Given the description of an element on the screen output the (x, y) to click on. 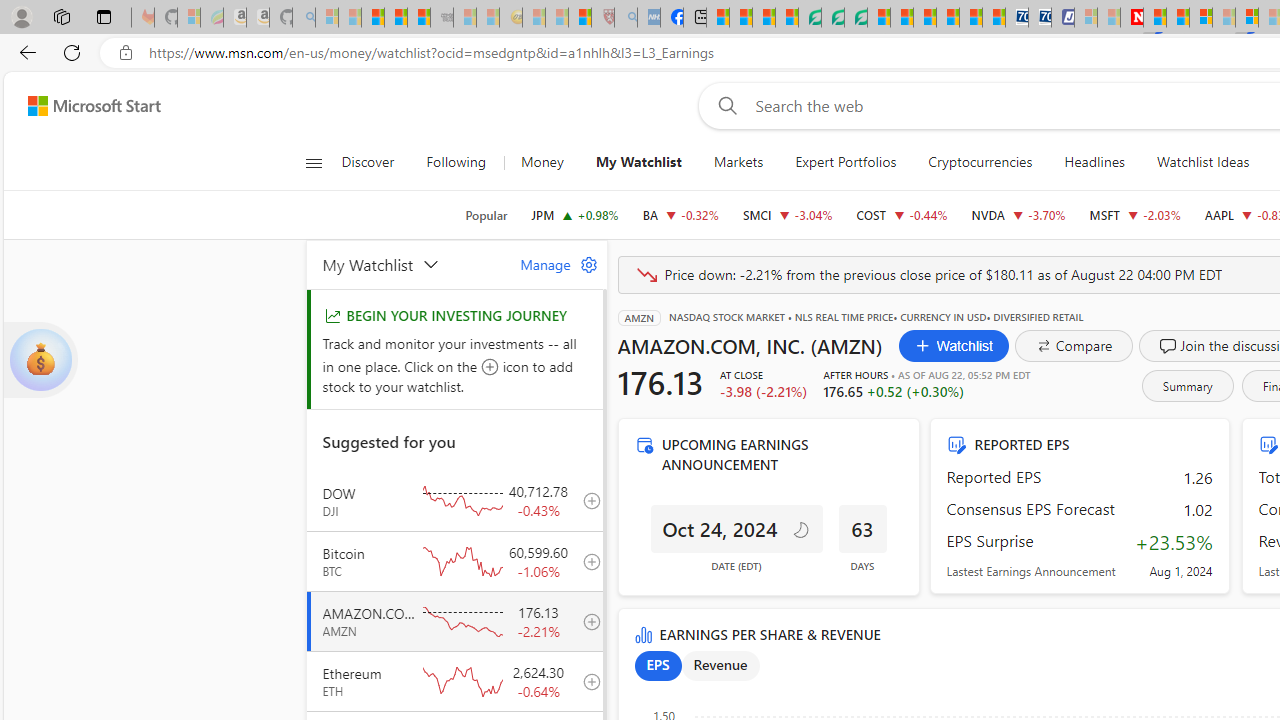
My Watchlist (409, 264)
